Given the description of an element on the screen output the (x, y) to click on. 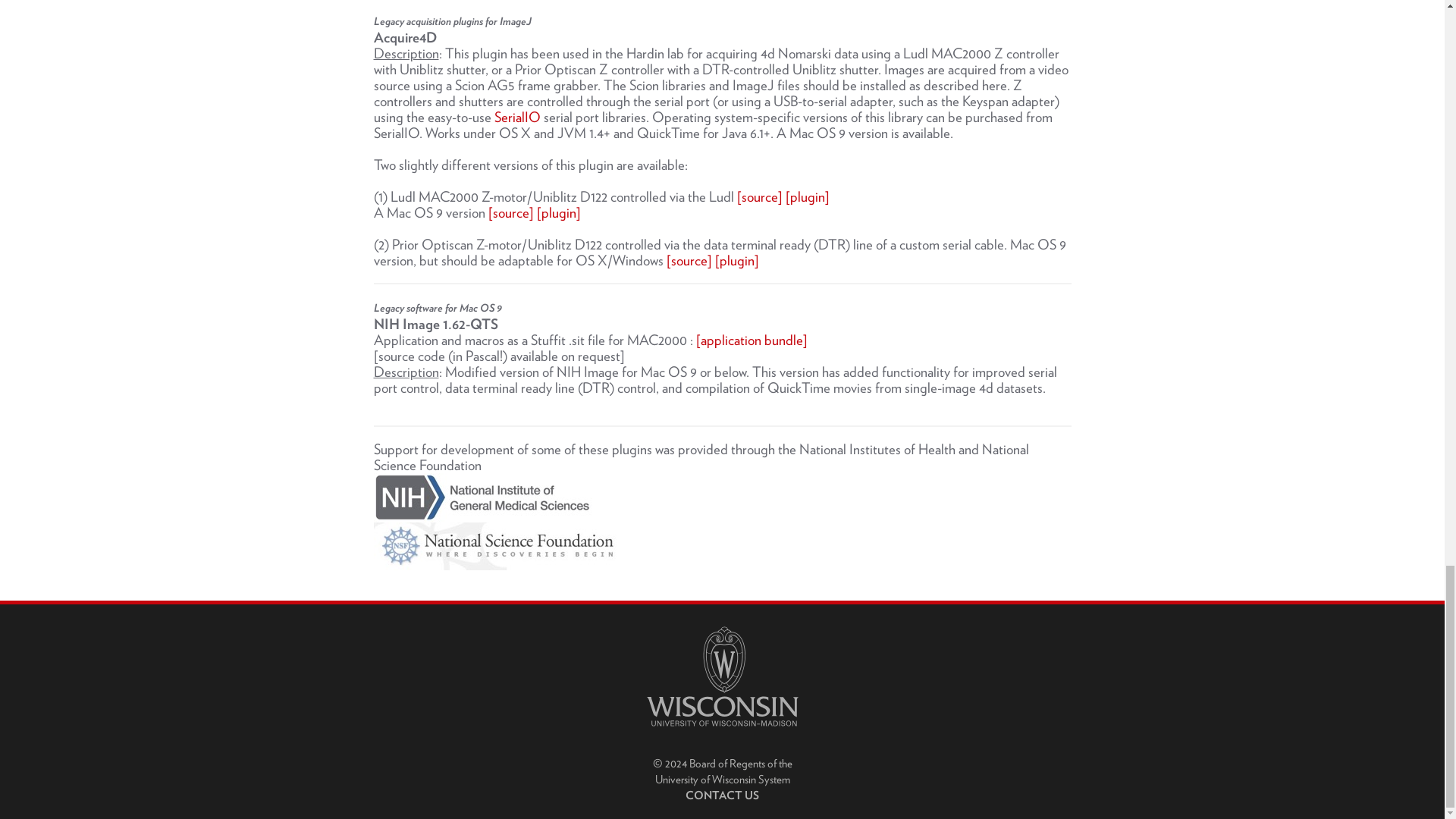
University logo that links to main university website (721, 676)
